Given the description of an element on the screen output the (x, y) to click on. 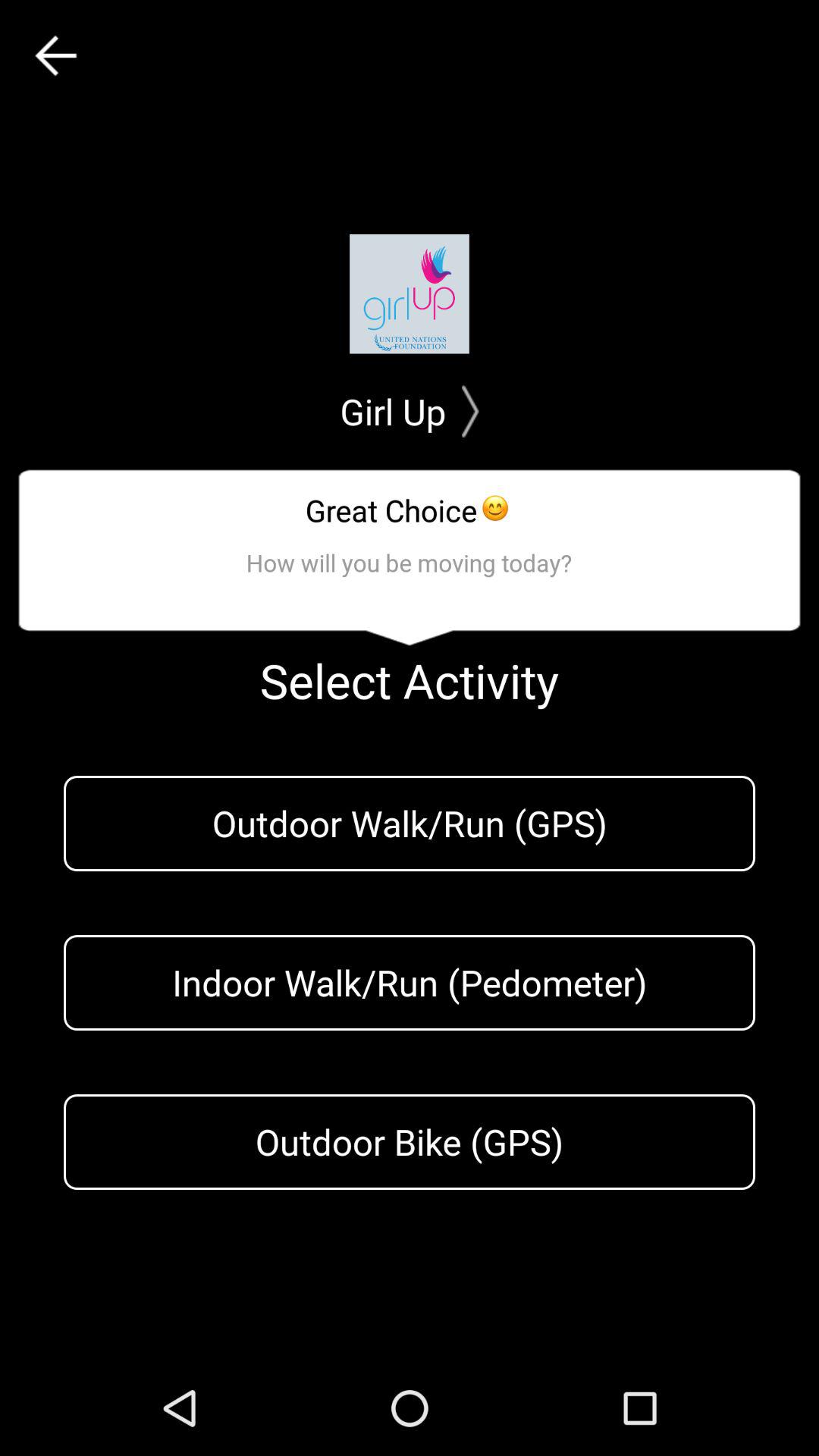
go back (55, 55)
